Given the description of an element on the screen output the (x, y) to click on. 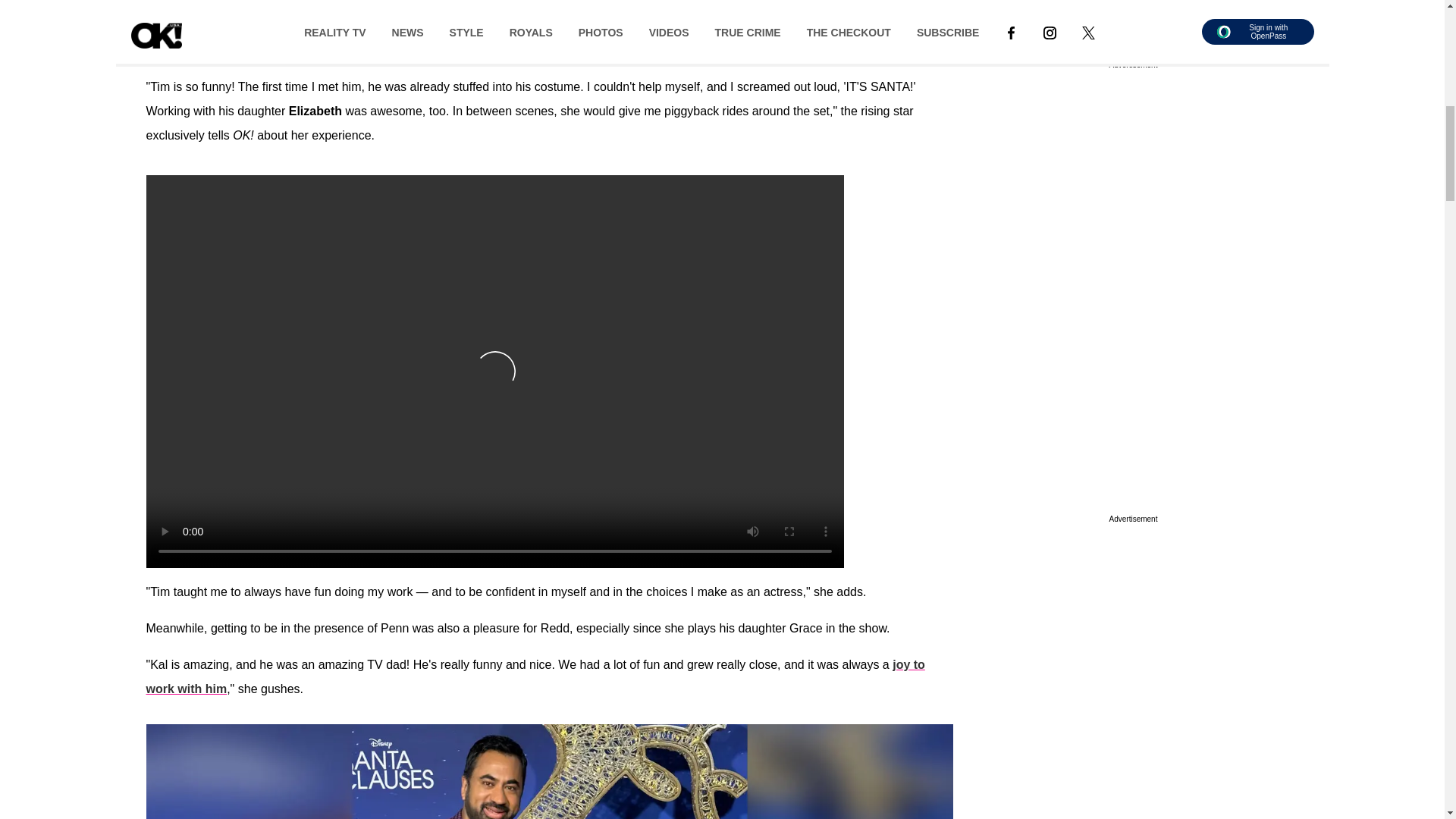
Rupali Redd (225, 25)
Tim Allen (725, 25)
